Given the description of an element on the screen output the (x, y) to click on. 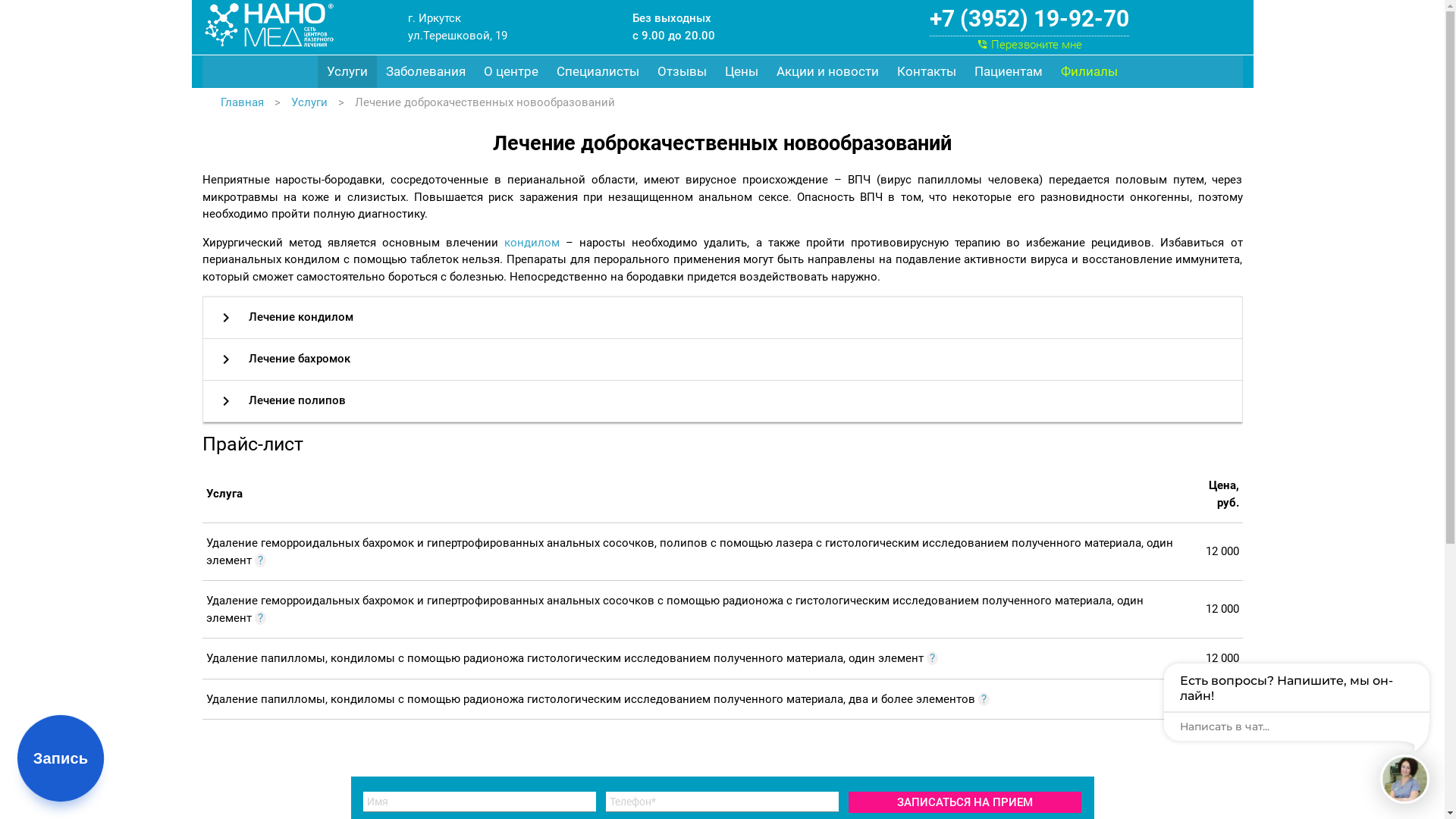
+7 (3952) 19-92-70 Element type: text (1029, 18)
? Element type: text (932, 658)
? Element type: text (983, 699)
? Element type: text (260, 560)
? Element type: text (260, 617)
